Given the description of an element on the screen output the (x, y) to click on. 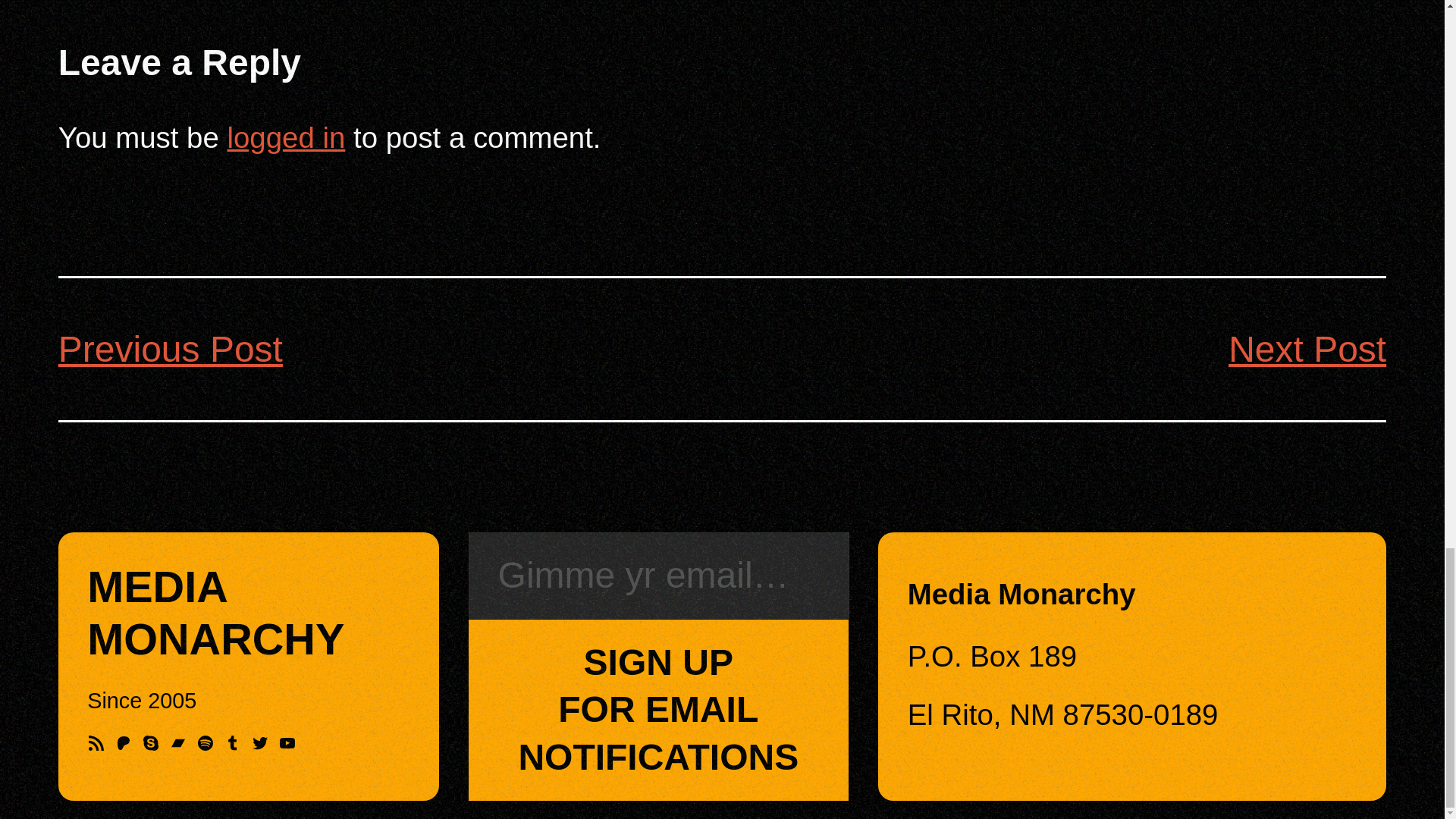
Twitter (259, 742)
RSS Feed (95, 742)
MEDIA MONARCHY (215, 612)
Previous Post (170, 349)
Spotify (205, 742)
Skype (150, 742)
Patreon (123, 742)
Bandcamp (177, 742)
logged in (286, 137)
Next Post (1307, 349)
Please fill in this field. (658, 575)
Tumblr (232, 742)
